Given the description of an element on the screen output the (x, y) to click on. 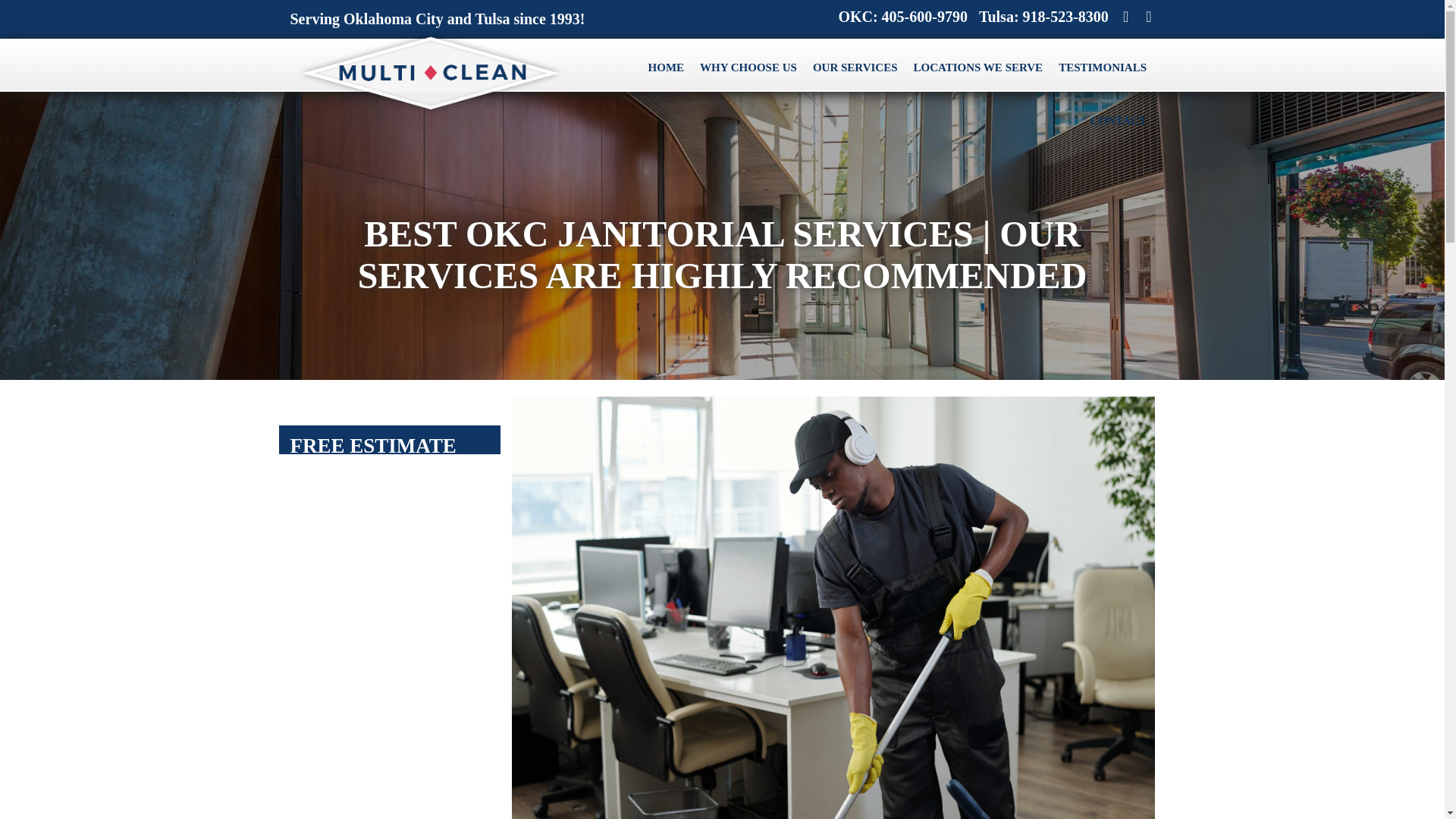
TESTIMONIALS (1102, 68)
OUR SERVICES (855, 68)
LOCATIONS WE SERVE (978, 68)
OKC: 405-600-9790 (897, 17)
CONTACT (1118, 120)
HOME (666, 68)
WHY CHOOSE US (749, 68)
Tulsa: 918-523-8300 (1038, 17)
